Given the description of an element on the screen output the (x, y) to click on. 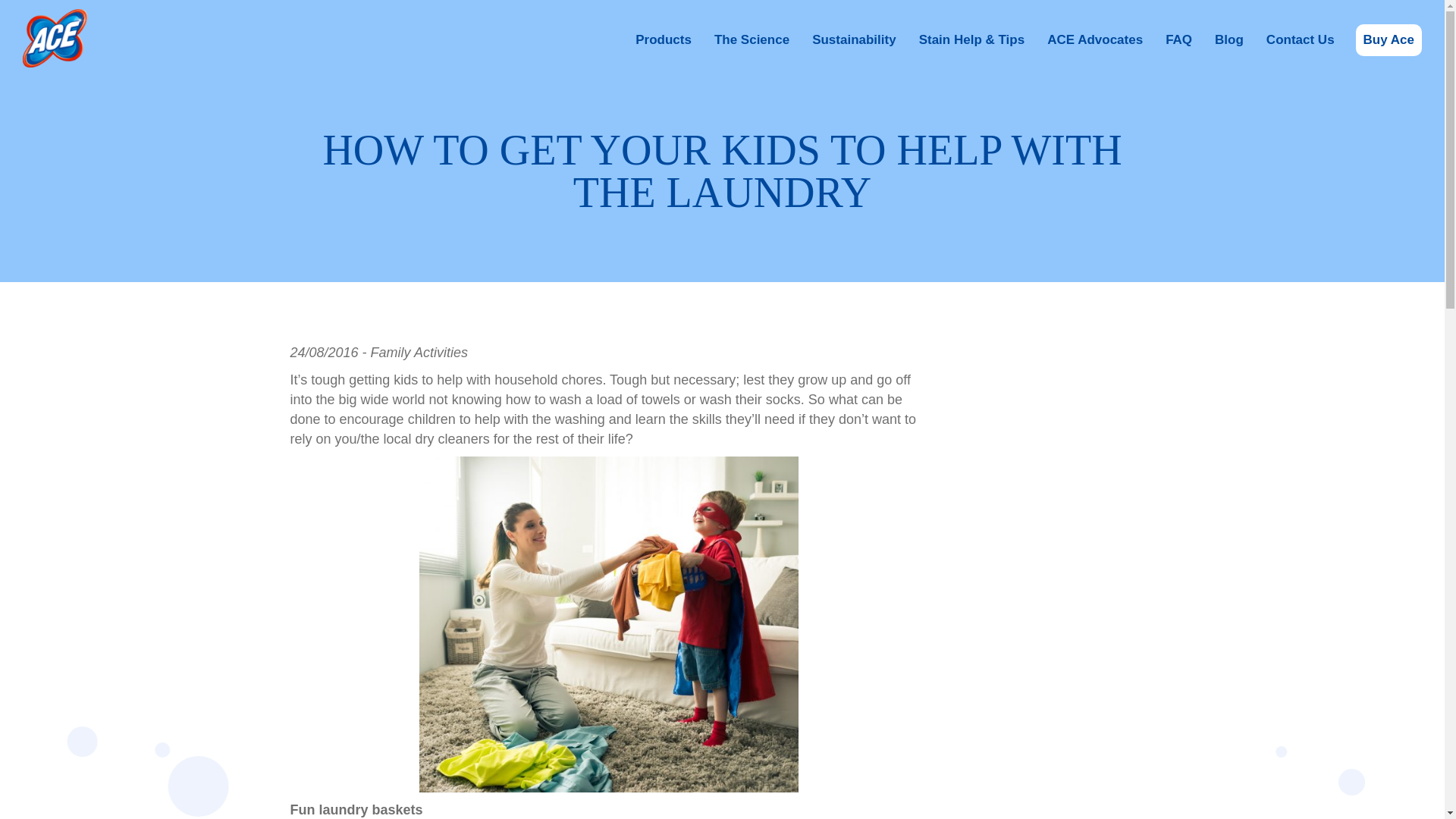
The Science (751, 40)
Sustainability (854, 40)
FAQ (1178, 40)
Blog (1228, 40)
ACE Advocates (1094, 40)
Products (662, 40)
Buy Ace (1388, 40)
Family Activities (419, 352)
Contact Us (1300, 40)
